Given the description of an element on the screen output the (x, y) to click on. 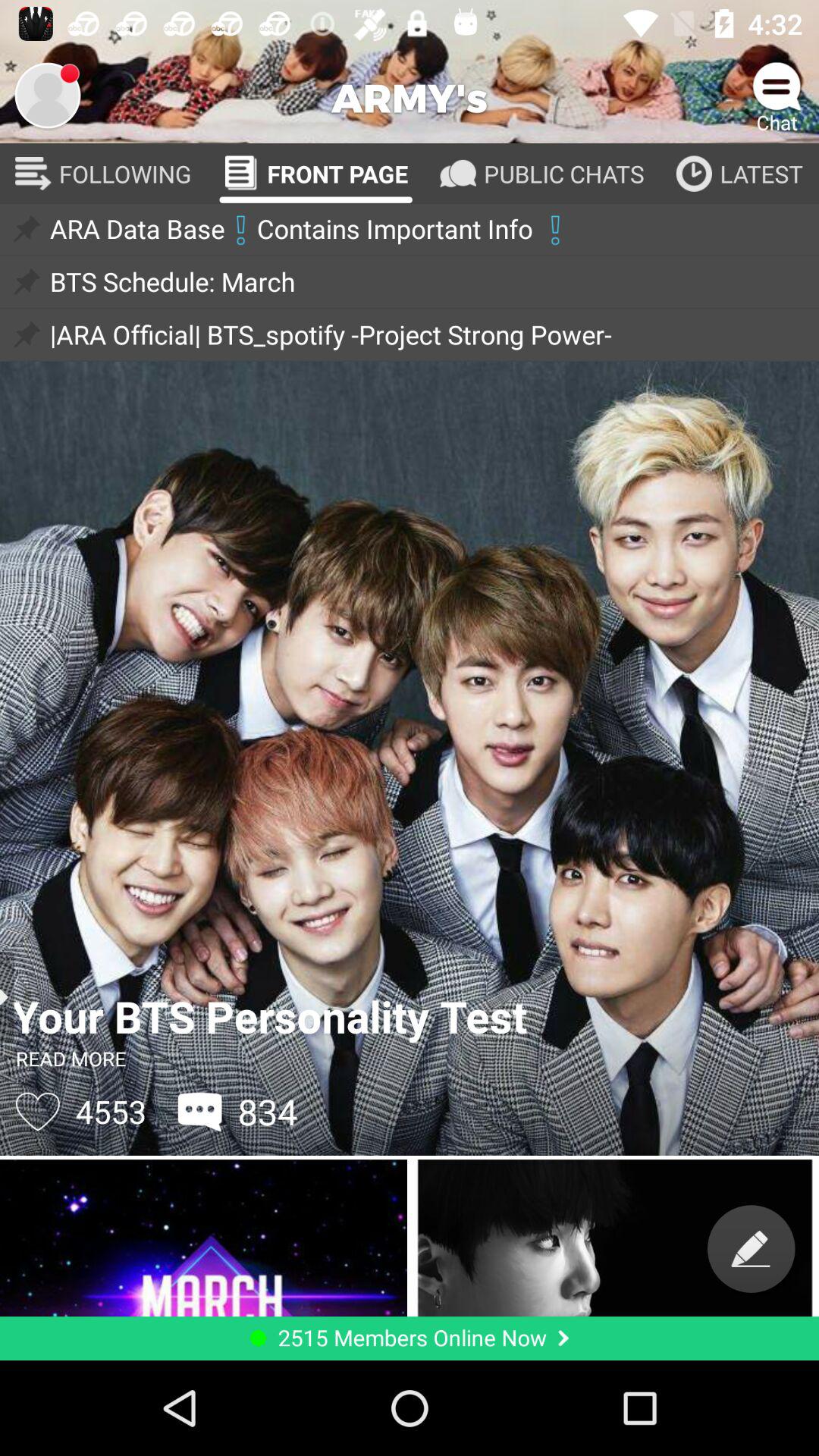
select pen (751, 1248)
